Given the description of an element on the screen output the (x, y) to click on. 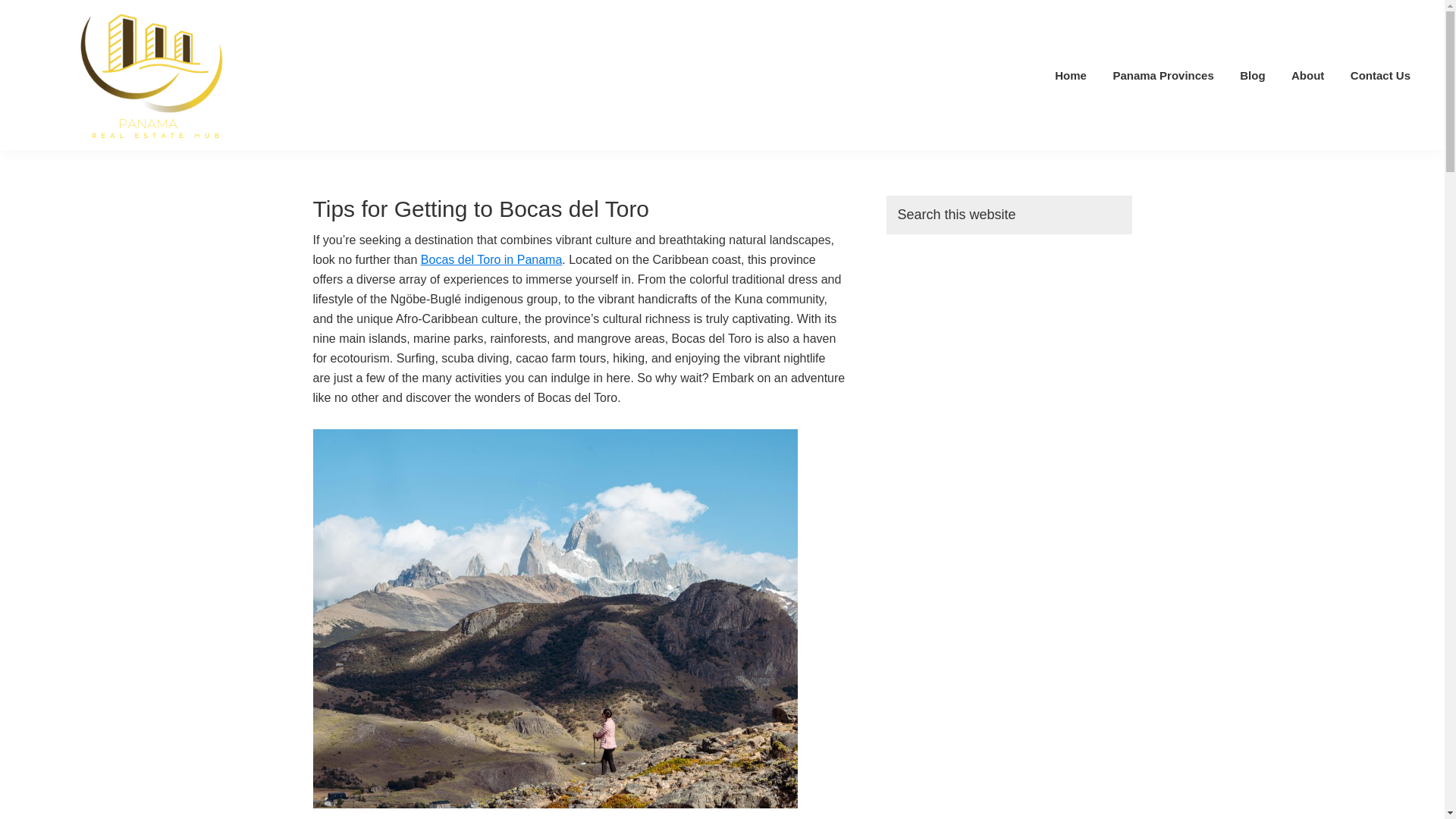
Contact Us (1380, 75)
cropped-Panama-1png - Your Panama Real Estate Hub (155, 75)
Bocas del Toro in Panama (491, 259)
About (1307, 75)
Blog (1252, 75)
Panama Provinces (1162, 75)
Home (1070, 75)
